Given the description of an element on the screen output the (x, y) to click on. 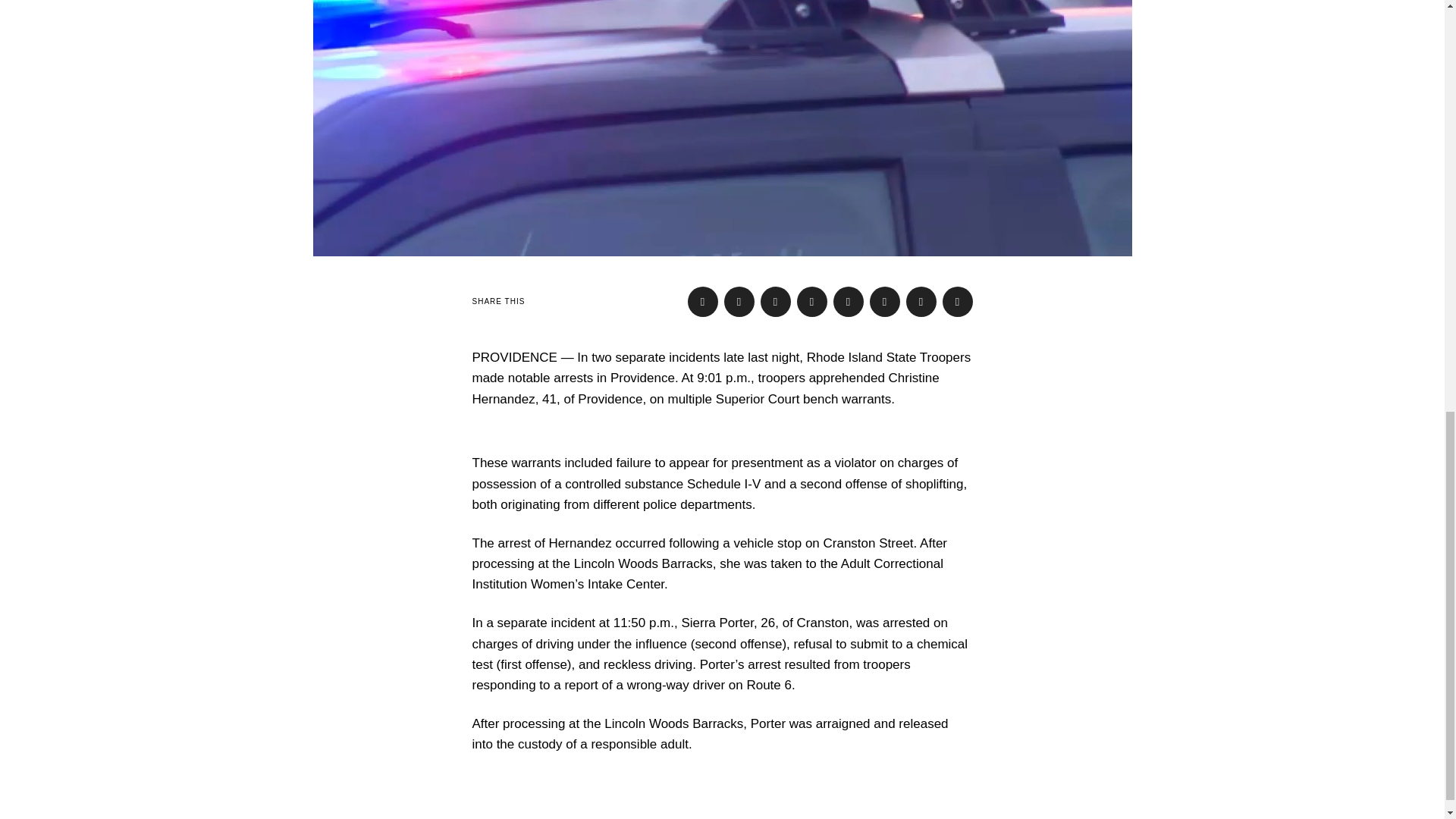
Linkedin (847, 301)
Messenger (738, 301)
Facebook (702, 301)
Reddit (920, 301)
Whatsapp (884, 301)
Pinterest (811, 301)
Twitter (775, 301)
Email (957, 301)
